Given the description of an element on the screen output the (x, y) to click on. 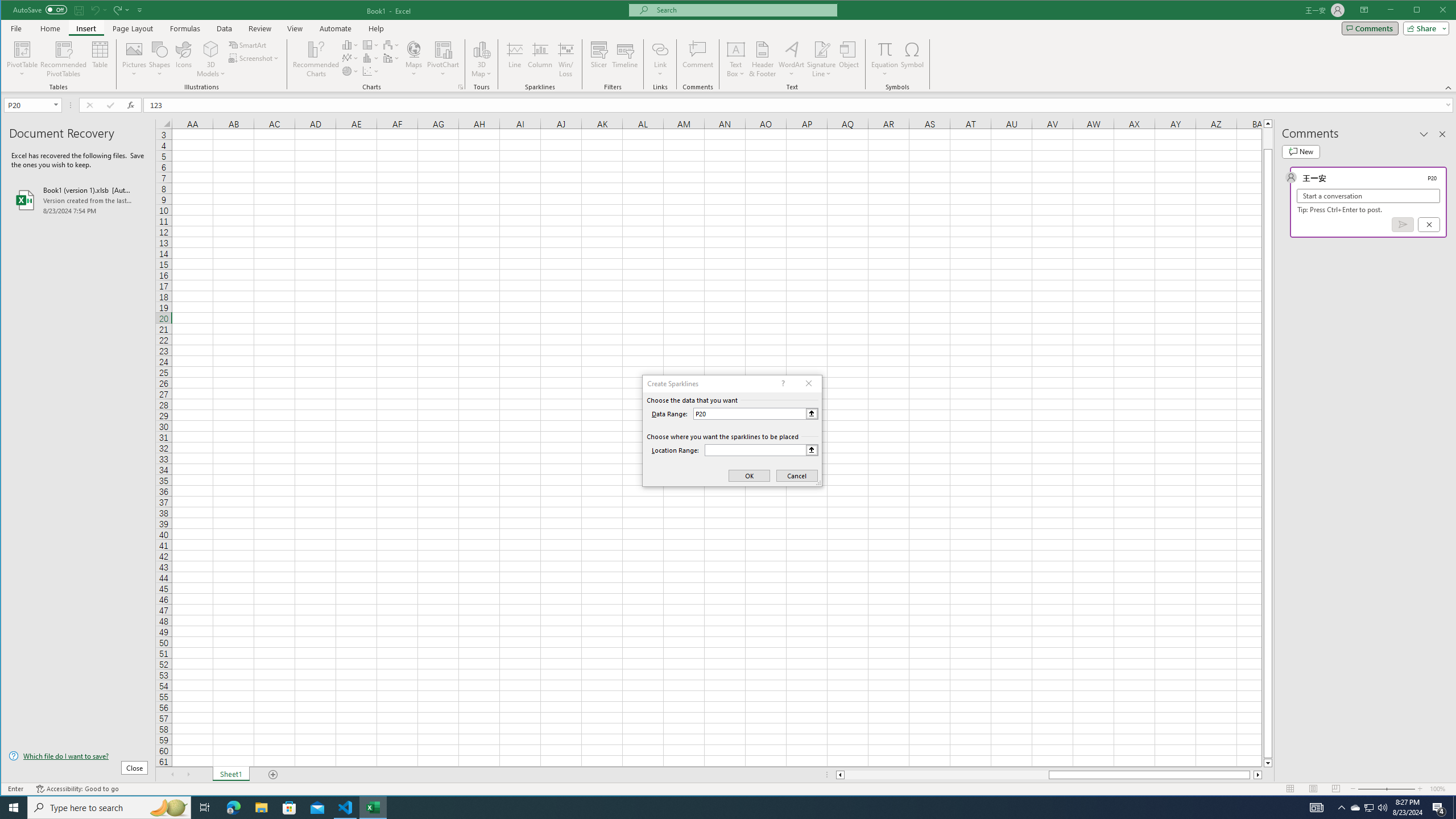
Timeline (625, 59)
Equation (884, 48)
Slicer... (598, 59)
Link (659, 48)
Text Box (735, 59)
Recommended PivotTables (63, 59)
